Given the description of an element on the screen output the (x, y) to click on. 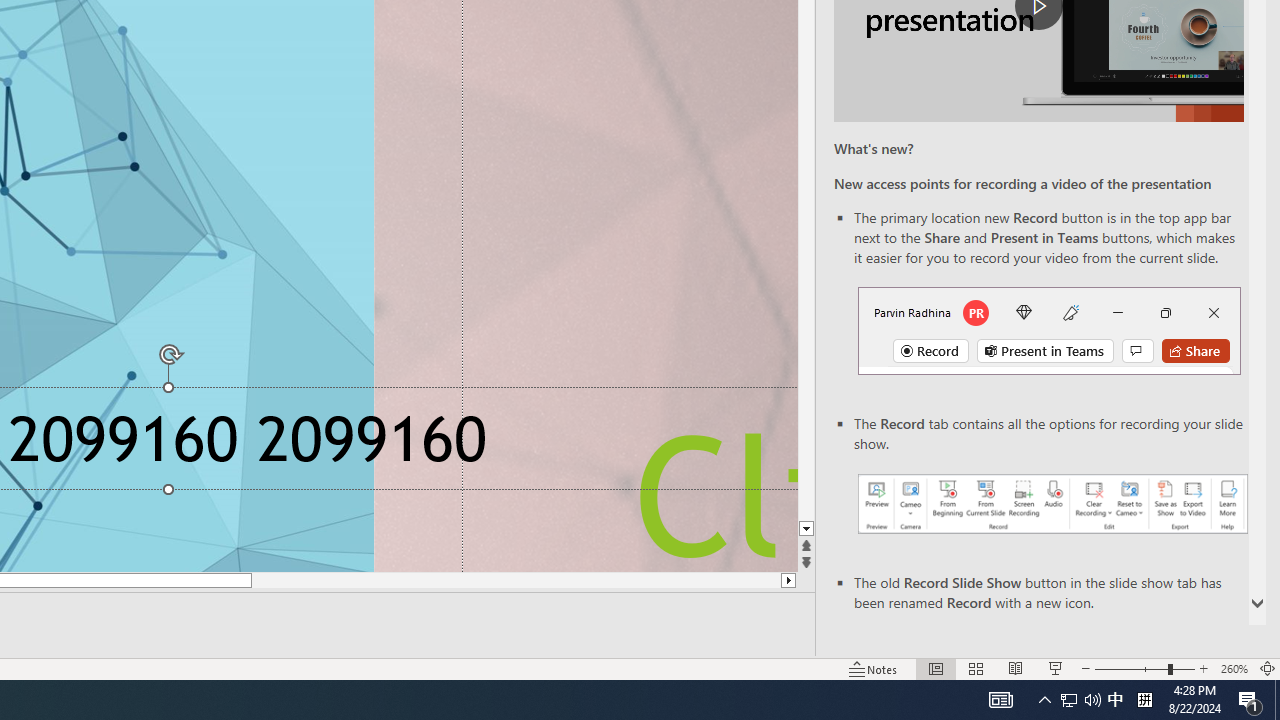
Zoom 260% (1234, 668)
Record your presentations screenshot one (1052, 503)
Record button in top bar (1049, 331)
